Given the description of an element on the screen output the (x, y) to click on. 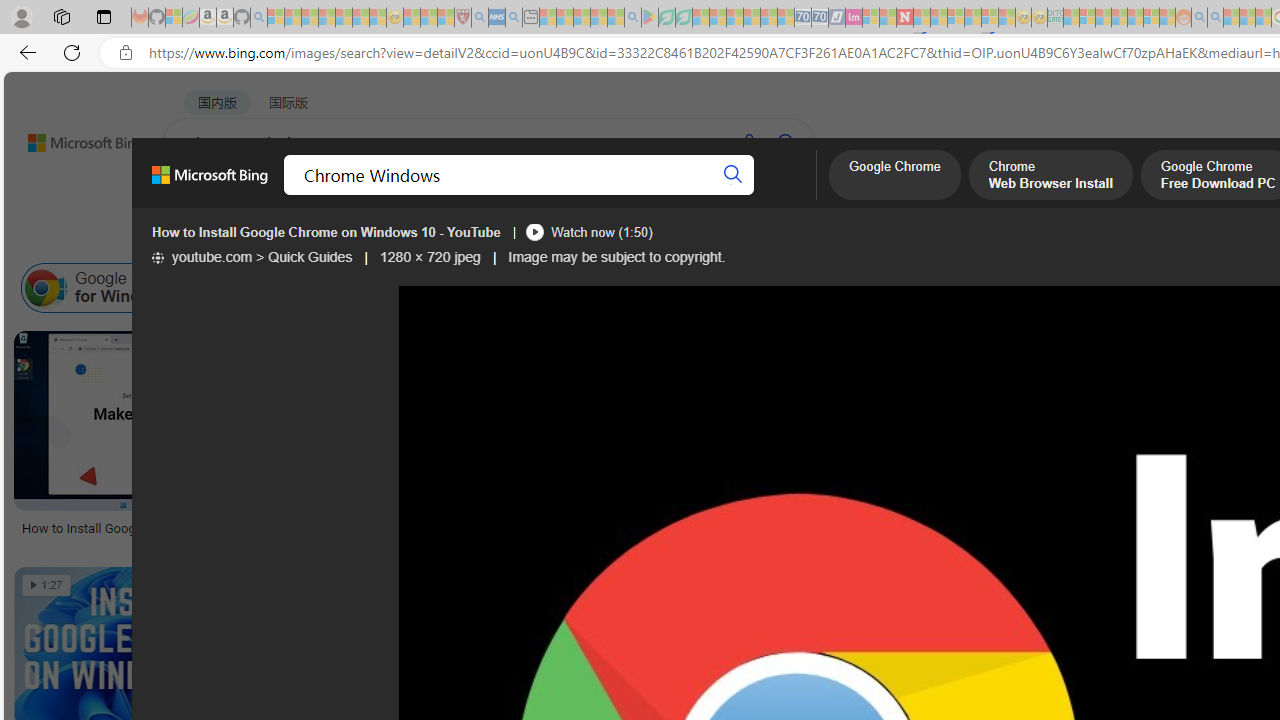
Color (305, 237)
Install Google Chrome Windows 8 (1144, 287)
DITOGAMES AG Imprint - Sleeping (1055, 17)
youtube.com>Quick Guides (251, 257)
Windows 8 Chrome (241, 287)
The Weather Channel - MSN - Sleeping (309, 17)
Expert Portfolios - Sleeping (1119, 17)
Get Google Chrome for Windows (495, 287)
MY BING (276, 195)
